Given the description of an element on the screen output the (x, y) to click on. 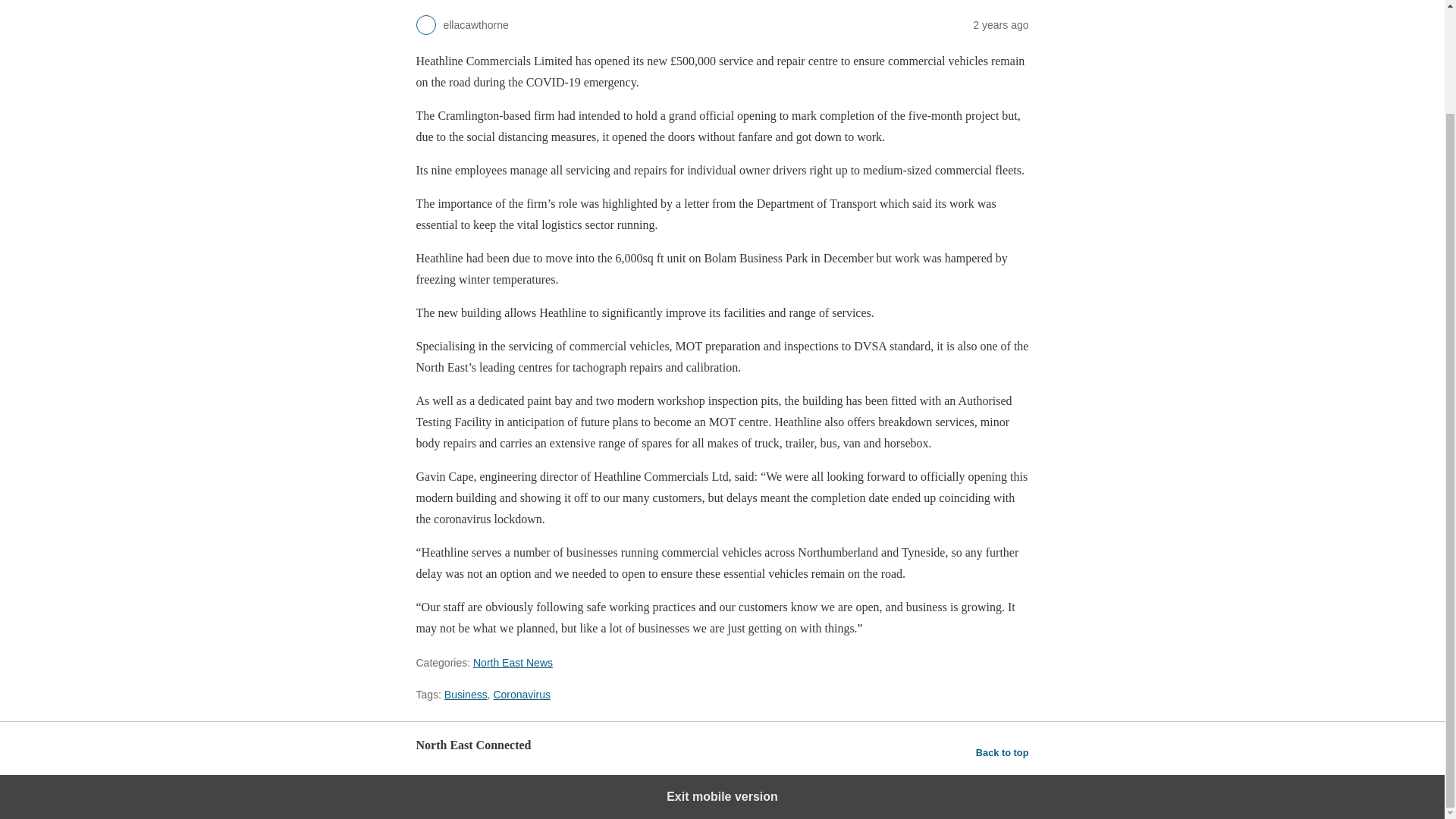
North East News (513, 662)
Business (465, 694)
Back to top (1002, 752)
Coronavirus (521, 694)
